Given the description of an element on the screen output the (x, y) to click on. 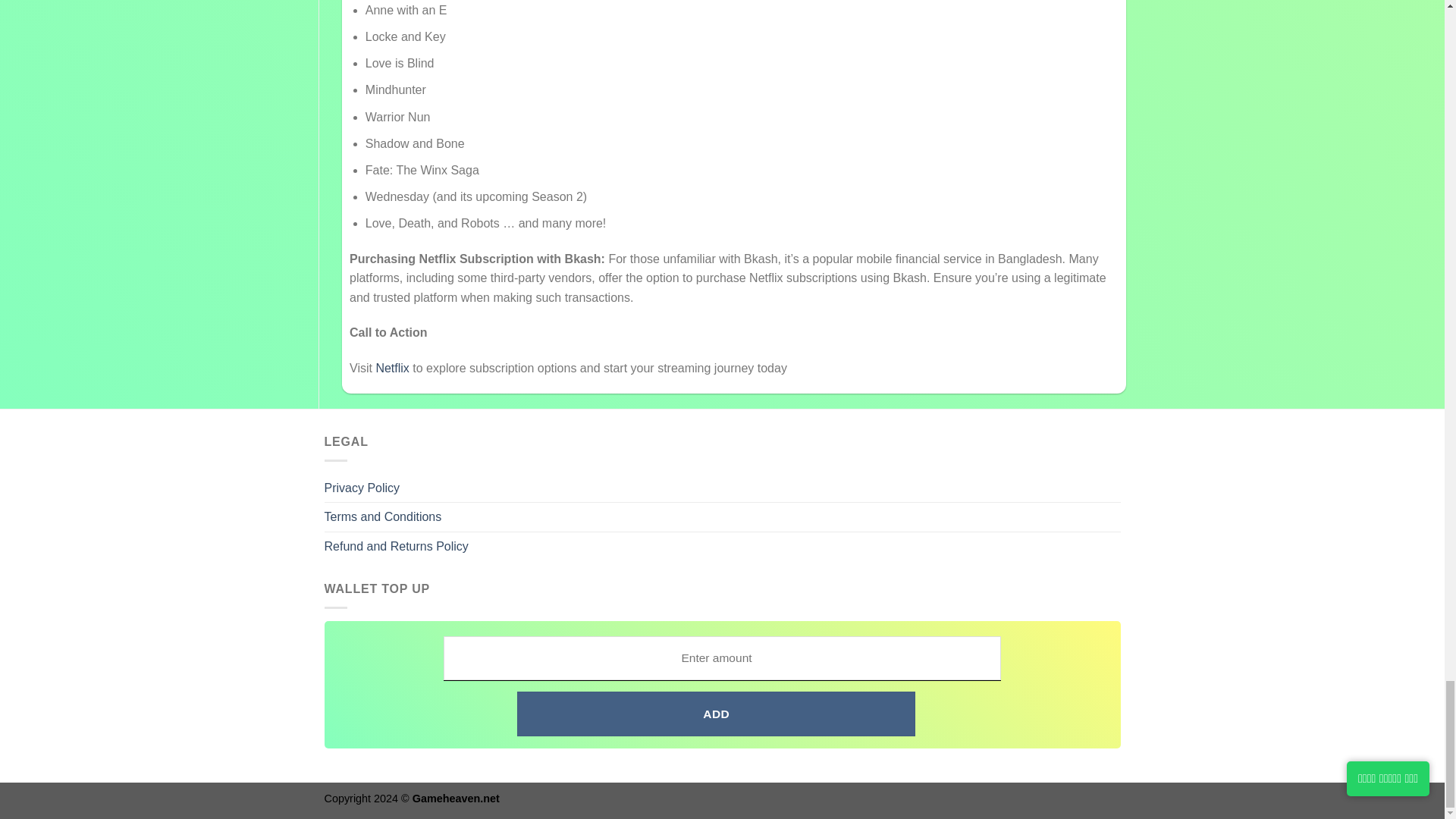
Add (715, 713)
Terms and Conditions (383, 516)
Add (715, 713)
Refund and Returns Policy (396, 546)
Privacy Policy (362, 488)
Netflix (392, 367)
Submit (873, 646)
